Given the description of an element on the screen output the (x, y) to click on. 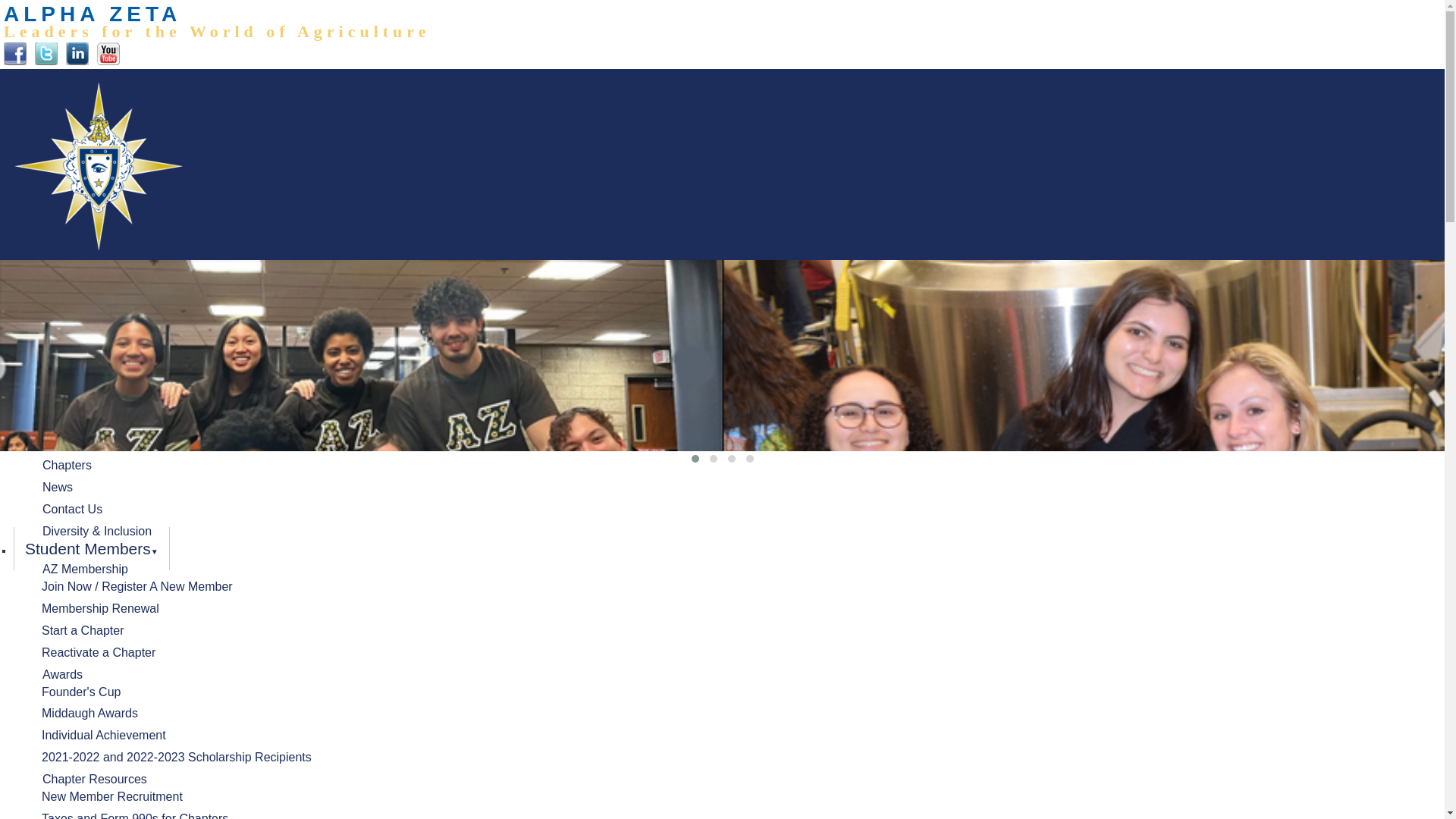
About AZ (61, 312)
Student Members (91, 548)
ALPHA ZETA (21, 283)
Home (92, 13)
